Given the description of an element on the screen output the (x, y) to click on. 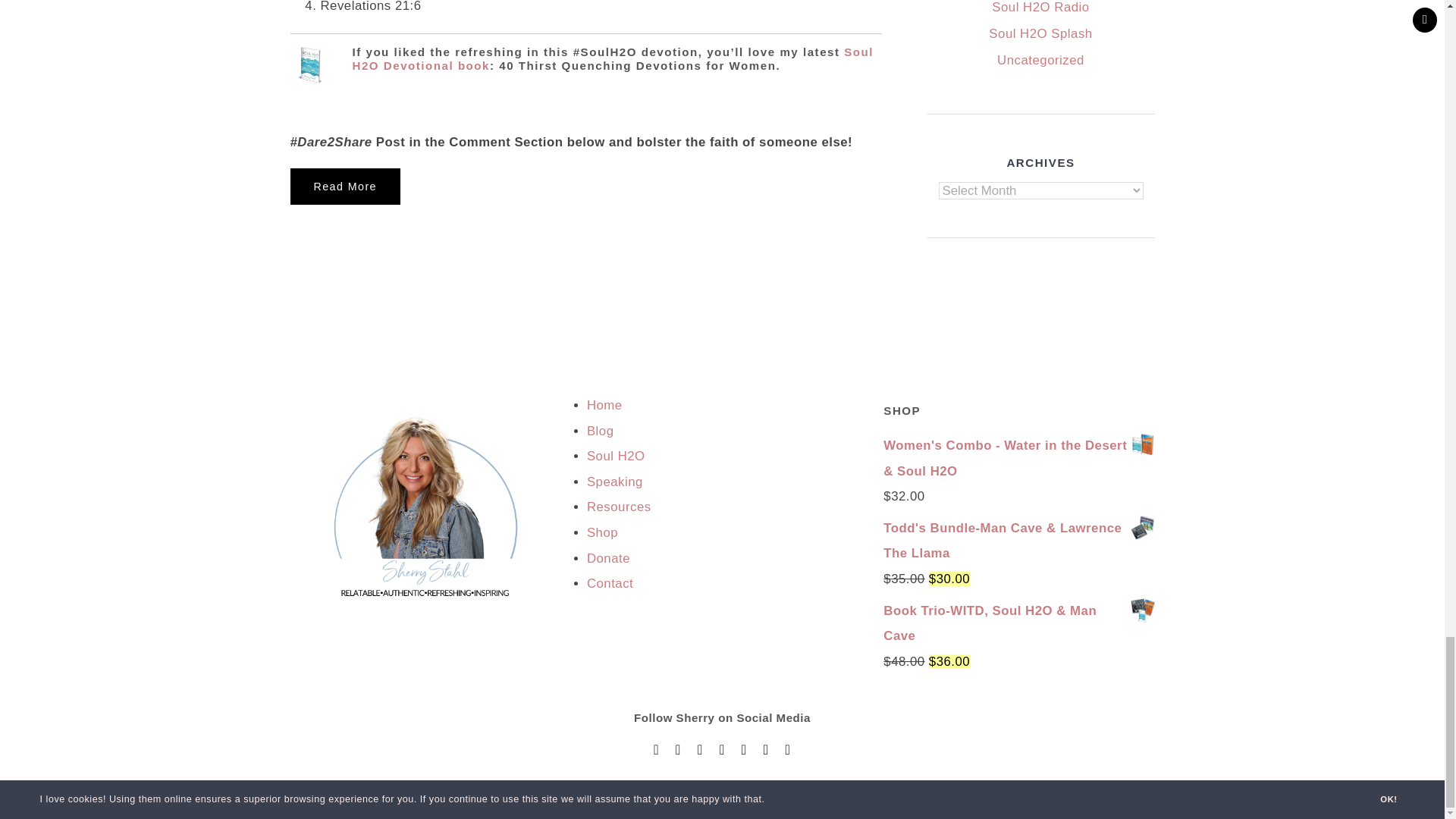
Soul H2O Devotional book (612, 58)
Read More (343, 186)
